Given the description of an element on the screen output the (x, y) to click on. 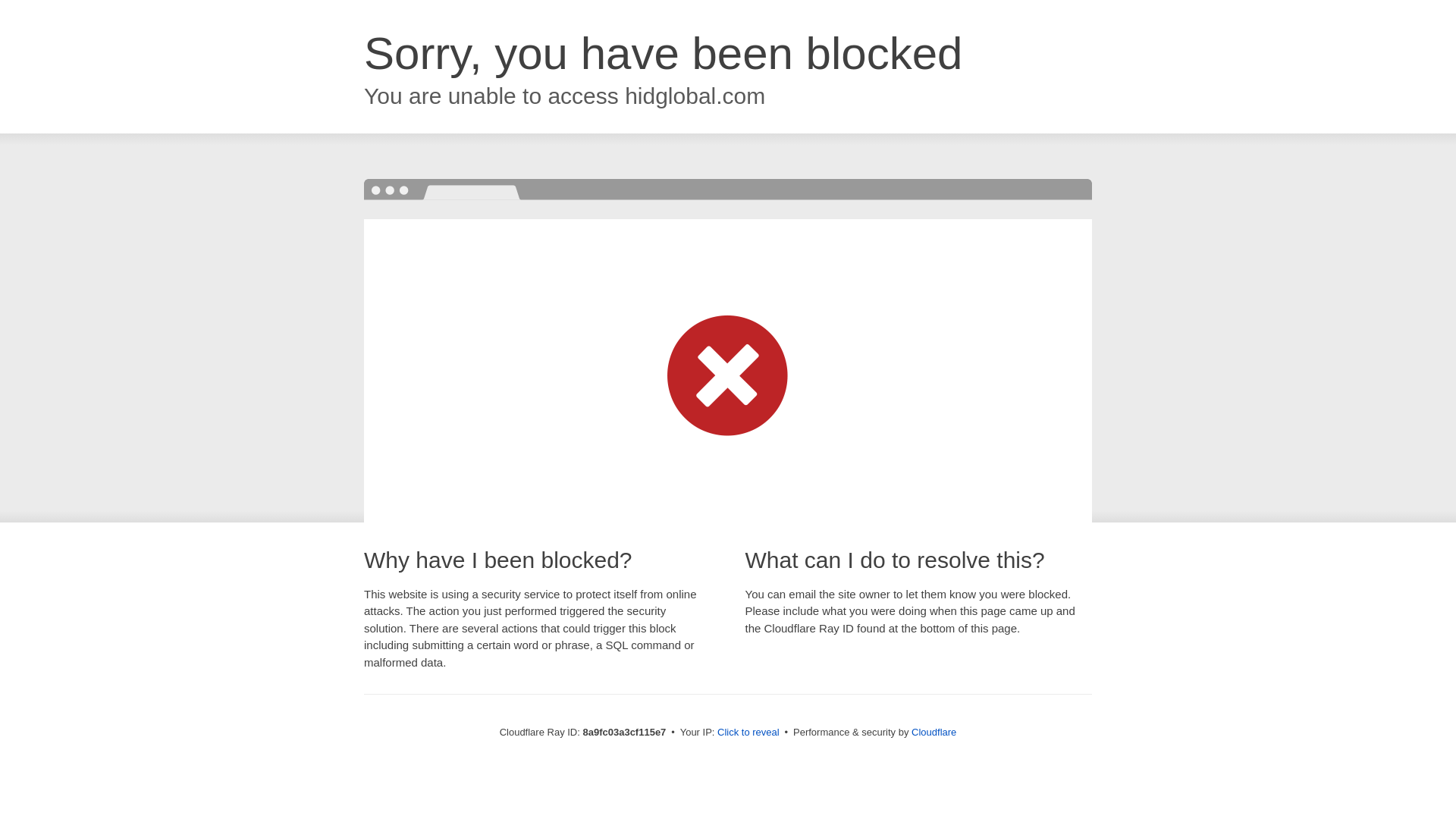
Click to reveal (747, 732)
Cloudflare (933, 731)
